Given the description of an element on the screen output the (x, y) to click on. 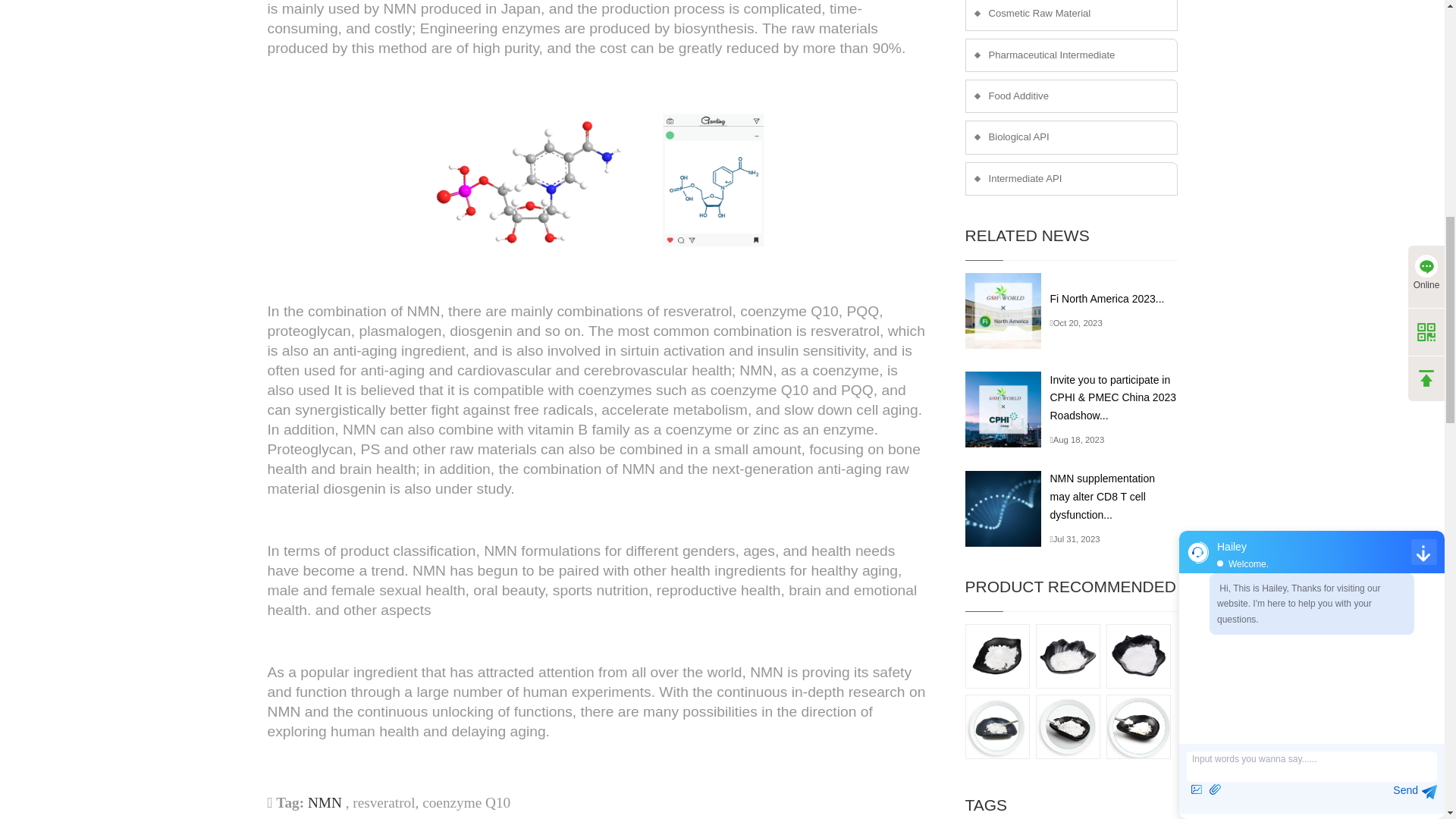
1684303570729917.jpg (596, 179)
NMN (324, 802)
NMN supplementation may alter CD8 T cell dysfunction (1006, 508)
Fi North America 2023 (1006, 310)
